Given the description of an element on the screen output the (x, y) to click on. 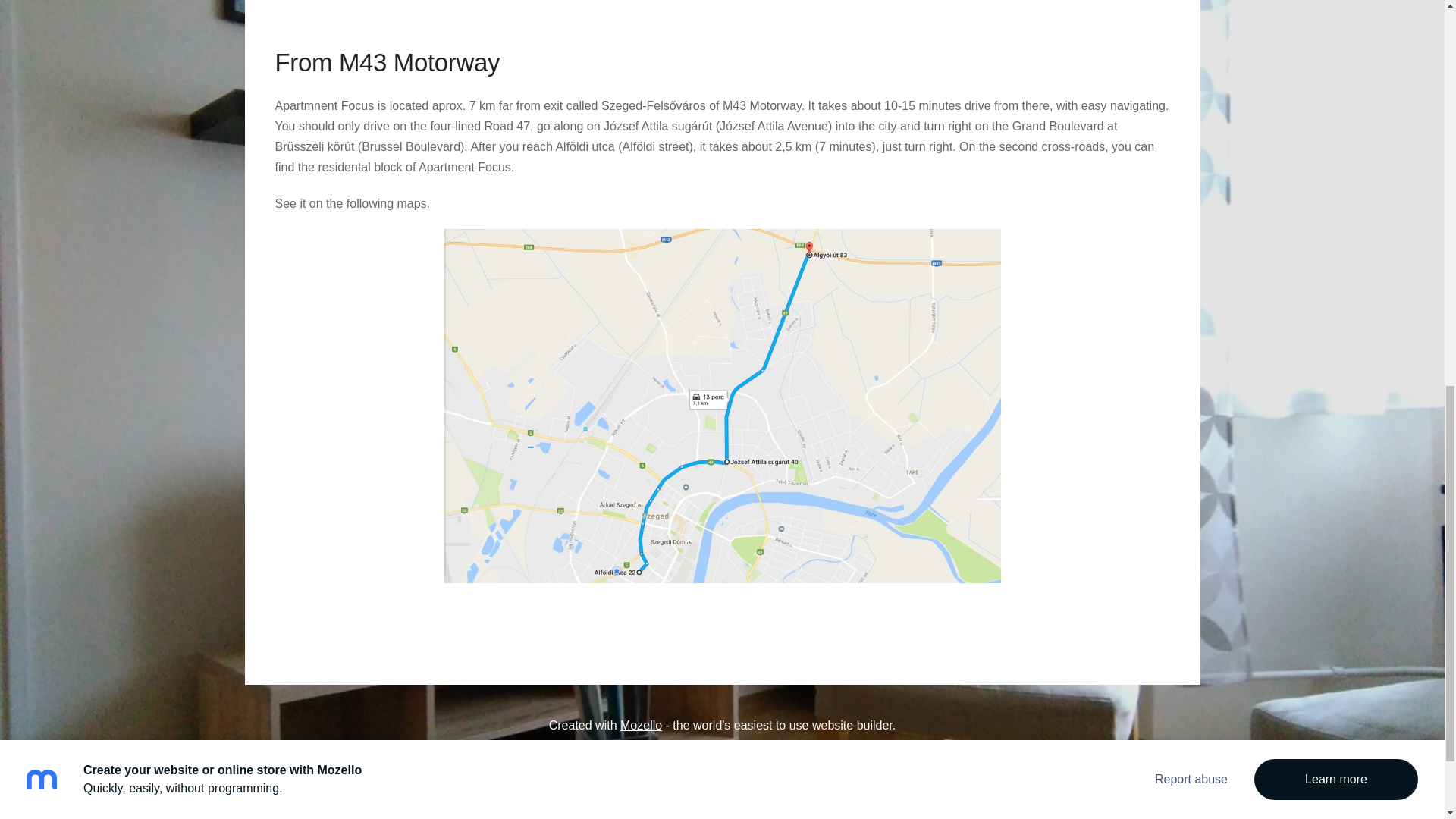
Mozello (641, 725)
Facebook (721, 766)
